Given the description of an element on the screen output the (x, y) to click on. 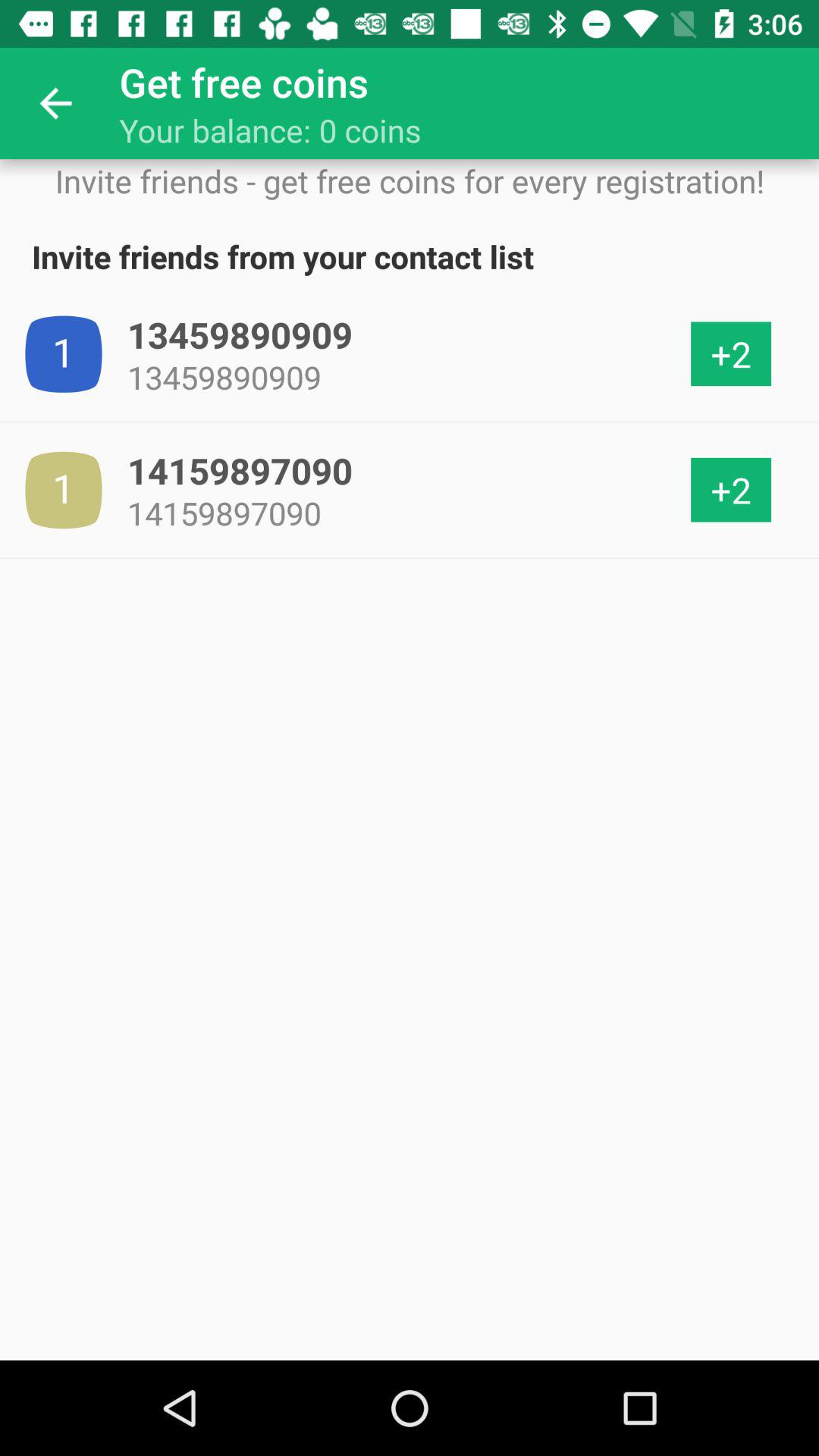
press icon next to get free coins item (55, 103)
